Given the description of an element on the screen output the (x, y) to click on. 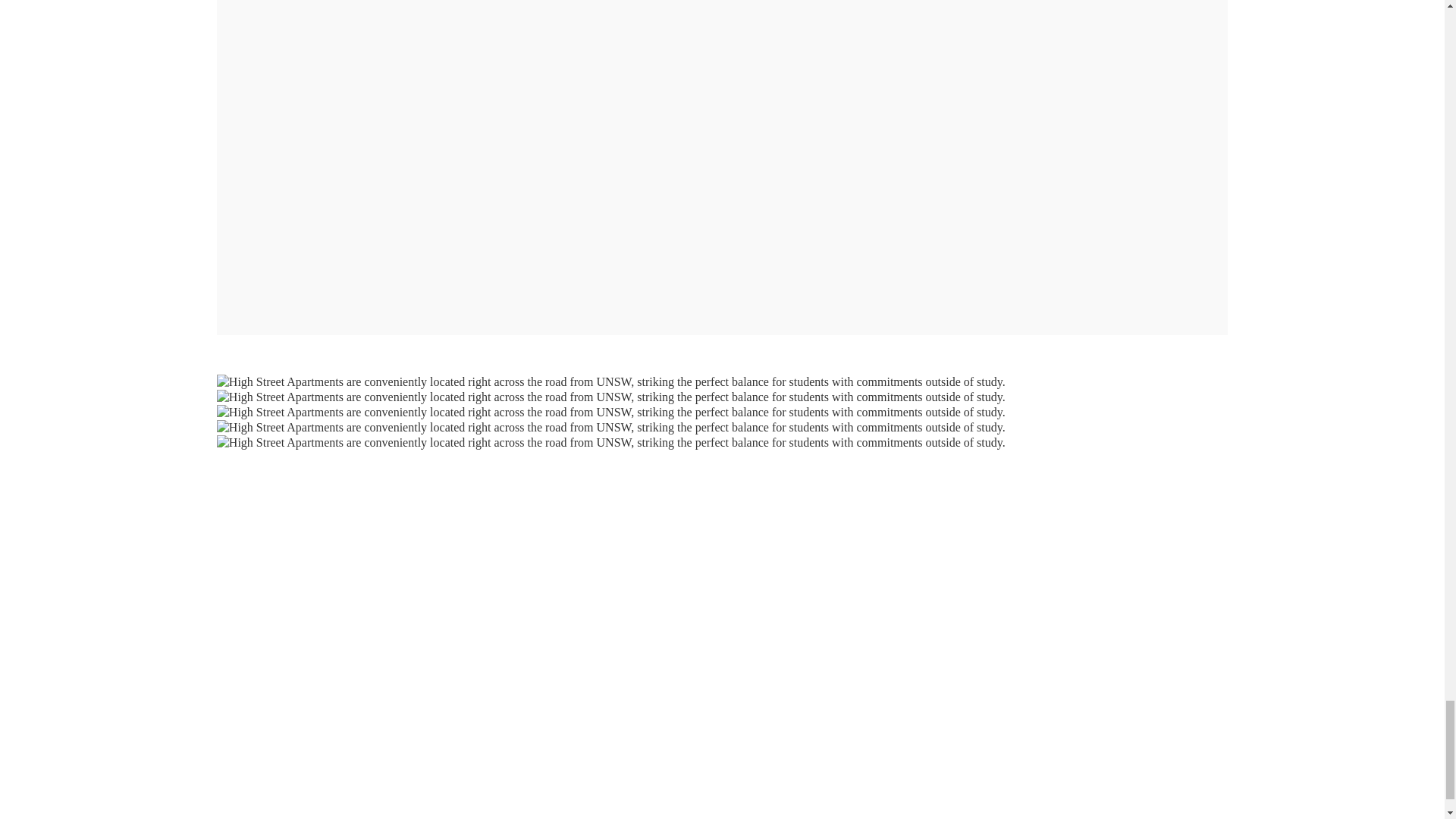
High Street Apartments - Student accommodation option (611, 442)
